Given the description of an element on the screen output the (x, y) to click on. 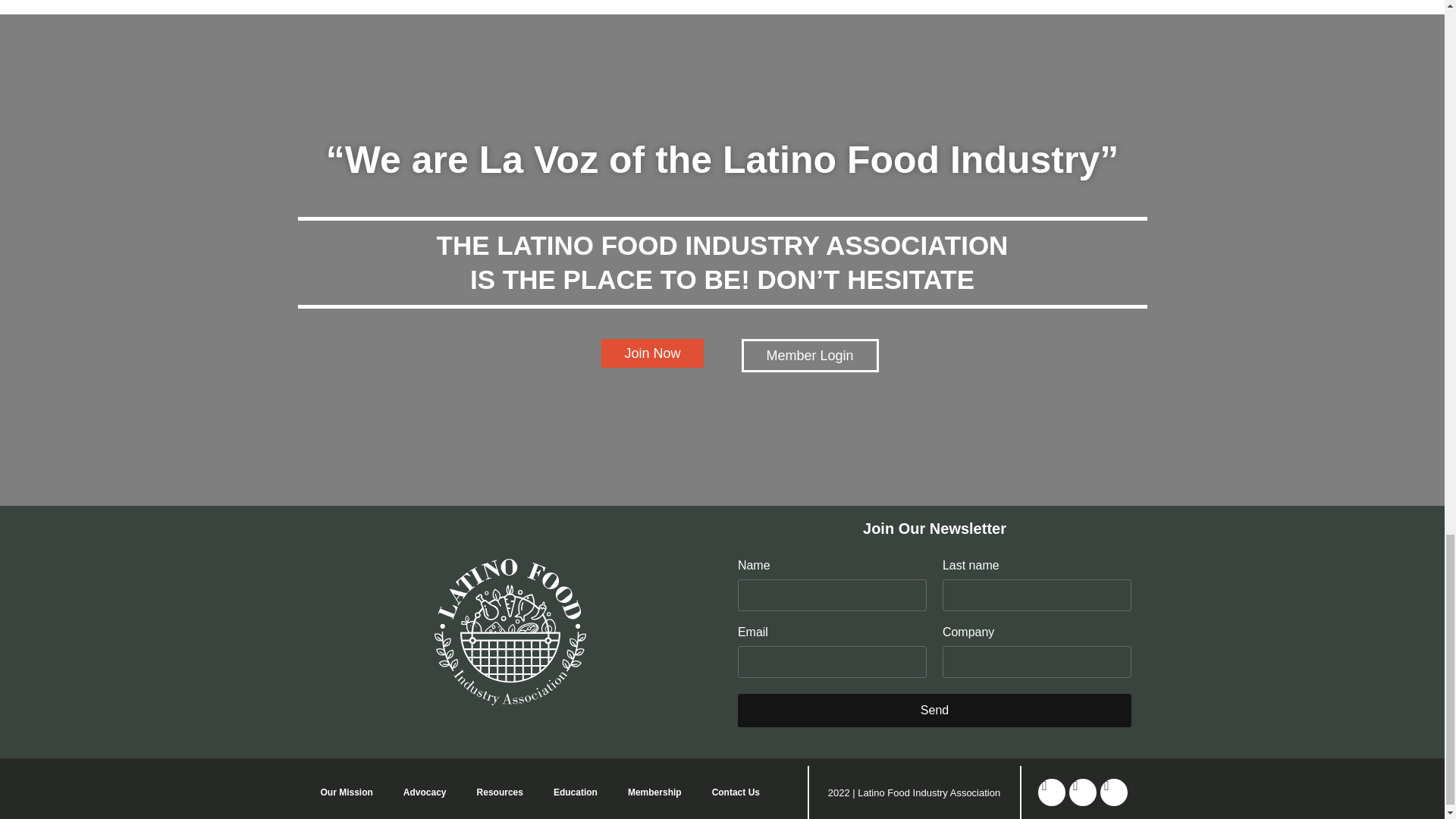
Member Login (810, 355)
Membership (654, 792)
Send (934, 710)
Advocacy (424, 792)
Resources (499, 792)
Join Now (652, 353)
Our Mission (345, 792)
Contact Us (735, 792)
Send (934, 710)
Education (575, 792)
